Given the description of an element on the screen output the (x, y) to click on. 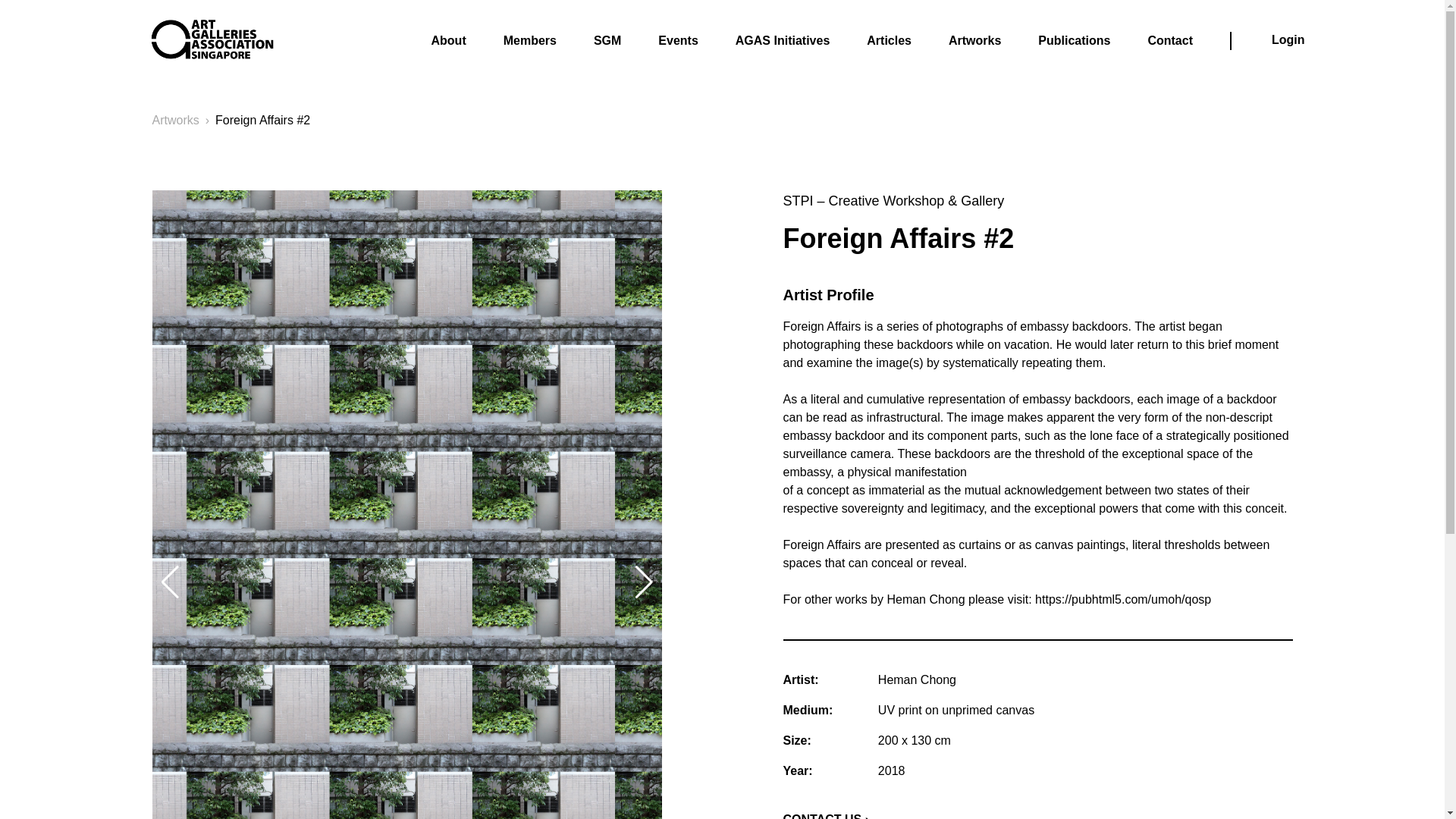
Artworks (975, 41)
SGM (607, 41)
Login (1287, 41)
Publications (1073, 41)
Artworks (174, 120)
Articles (888, 41)
Events (677, 41)
Members (529, 41)
About (447, 41)
Contact (1169, 41)
